Given the description of an element on the screen output the (x, y) to click on. 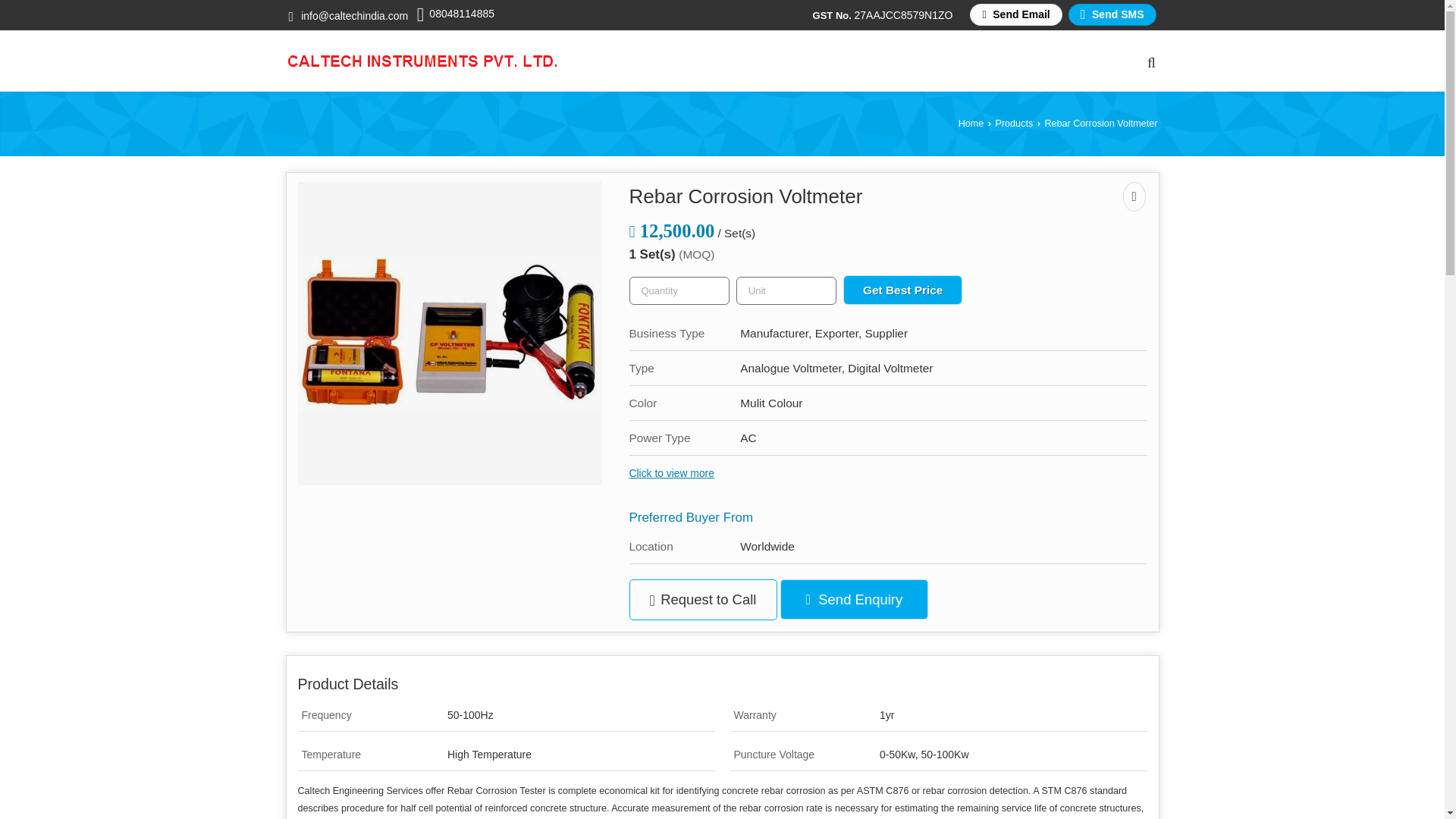
Send SMS (1112, 14)
Caltech Instruments Pvt. Ltd. (422, 61)
Caltech Instruments Pvt. Ltd. (422, 60)
Send Email (1015, 14)
